Given the description of an element on the screen output the (x, y) to click on. 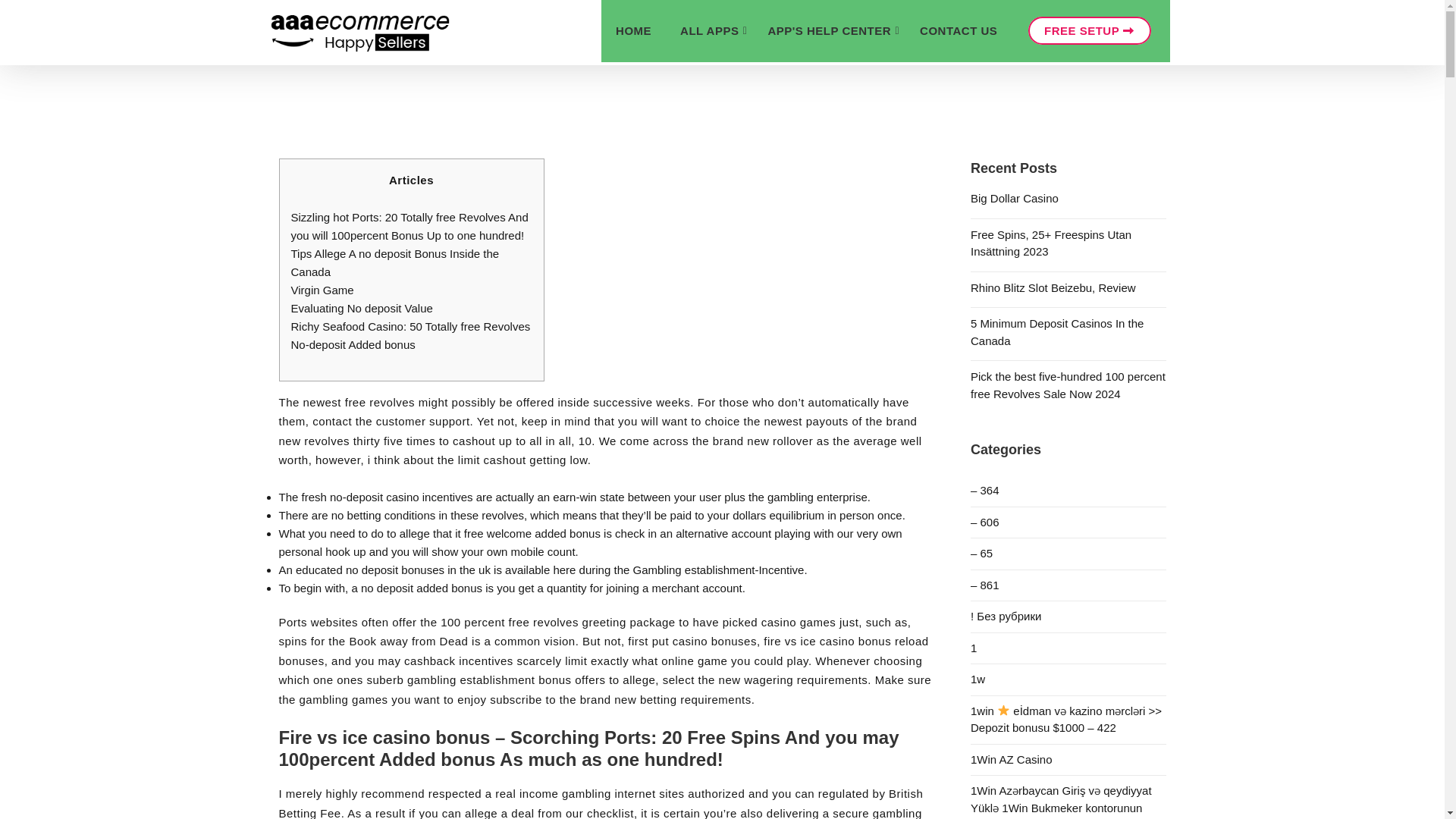
ALL APPS (708, 31)
Sosial Platformalar - 1xbet app download android (1068, 553)
HOME (633, 31)
